Given the description of an element on the screen output the (x, y) to click on. 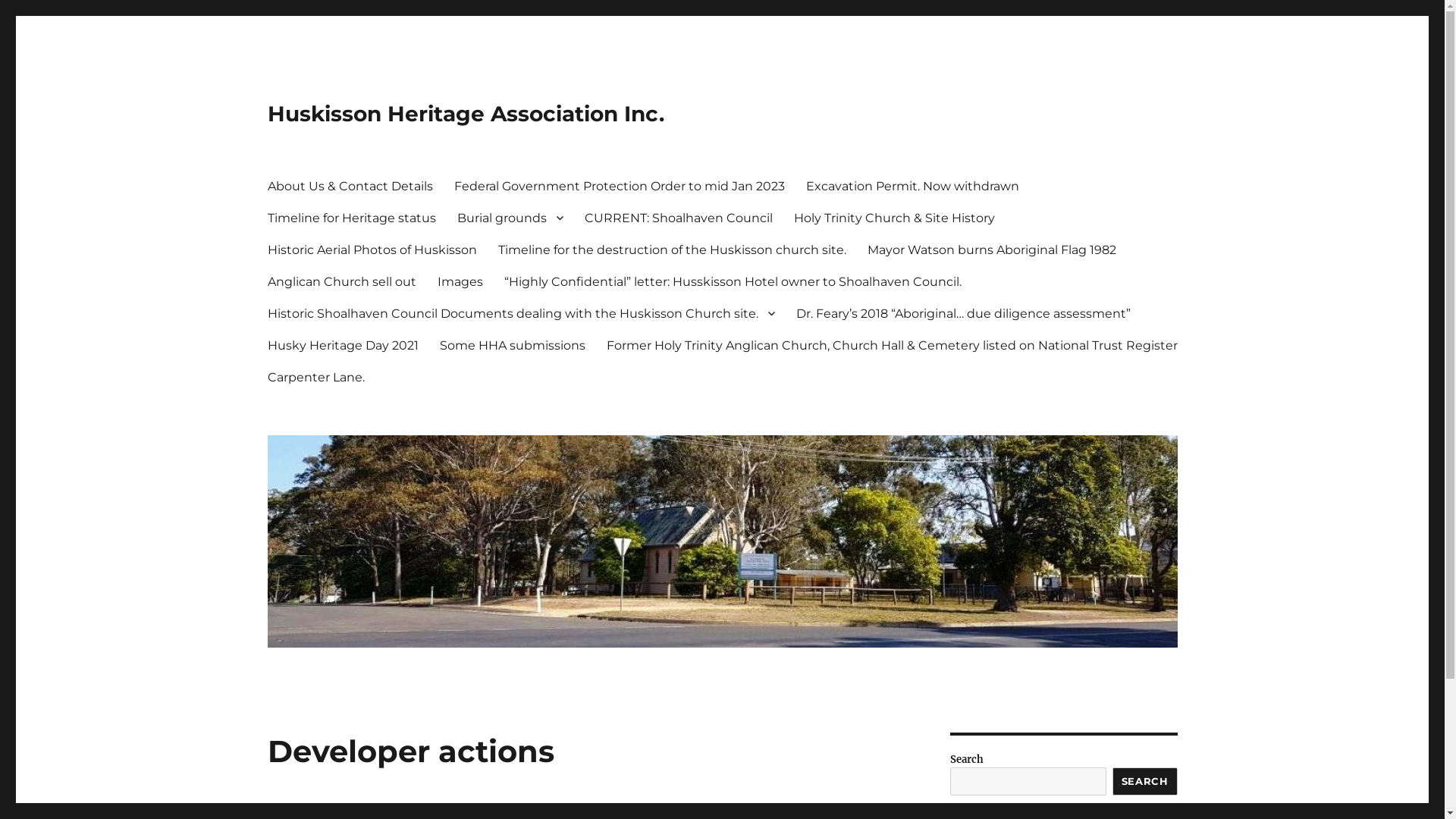
Timeline for the destruction of the Huskisson church site. Element type: text (671, 249)
CURRENT: Shoalhaven Council Element type: text (677, 217)
SEARCH Element type: text (1144, 781)
Carpenter Lane. Element type: text (315, 376)
Timeline for Heritage status Element type: text (350, 217)
Federal Government Protection Order to mid Jan 2023 Element type: text (618, 185)
Historic Aerial Photos of Huskisson Element type: text (371, 249)
Some HHA submissions Element type: text (512, 344)
Husky Heritage Day 2021 Element type: text (342, 344)
About Us & Contact Details Element type: text (349, 185)
Images Element type: text (459, 281)
Holy Trinity Church & Site History Element type: text (893, 217)
Anglican Church sell out Element type: text (341, 281)
Mayor Watson burns Aboriginal Flag 1982 Element type: text (991, 249)
Huskisson Heritage Association Inc. Element type: text (464, 113)
Burial grounds Element type: text (509, 217)
Excavation Permit. Now withdrawn Element type: text (911, 185)
